Given the description of an element on the screen output the (x, y) to click on. 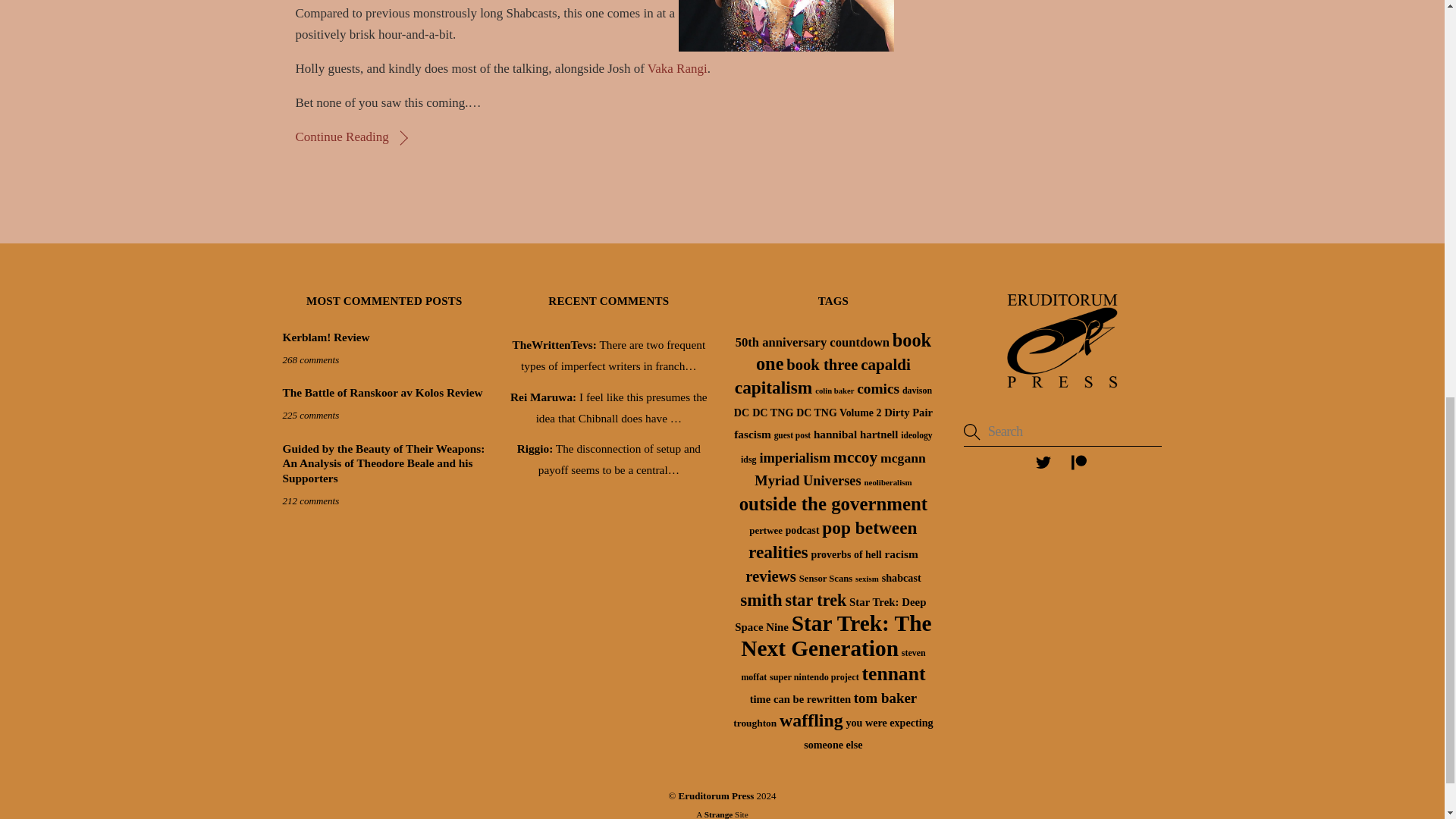
Strange Specimen (718, 814)
Eruditorum Press Logo (1062, 341)
Eruditorum Press (1062, 392)
Search (1062, 431)
Vaka Rangi (677, 68)
